Given the description of an element on the screen output the (x, y) to click on. 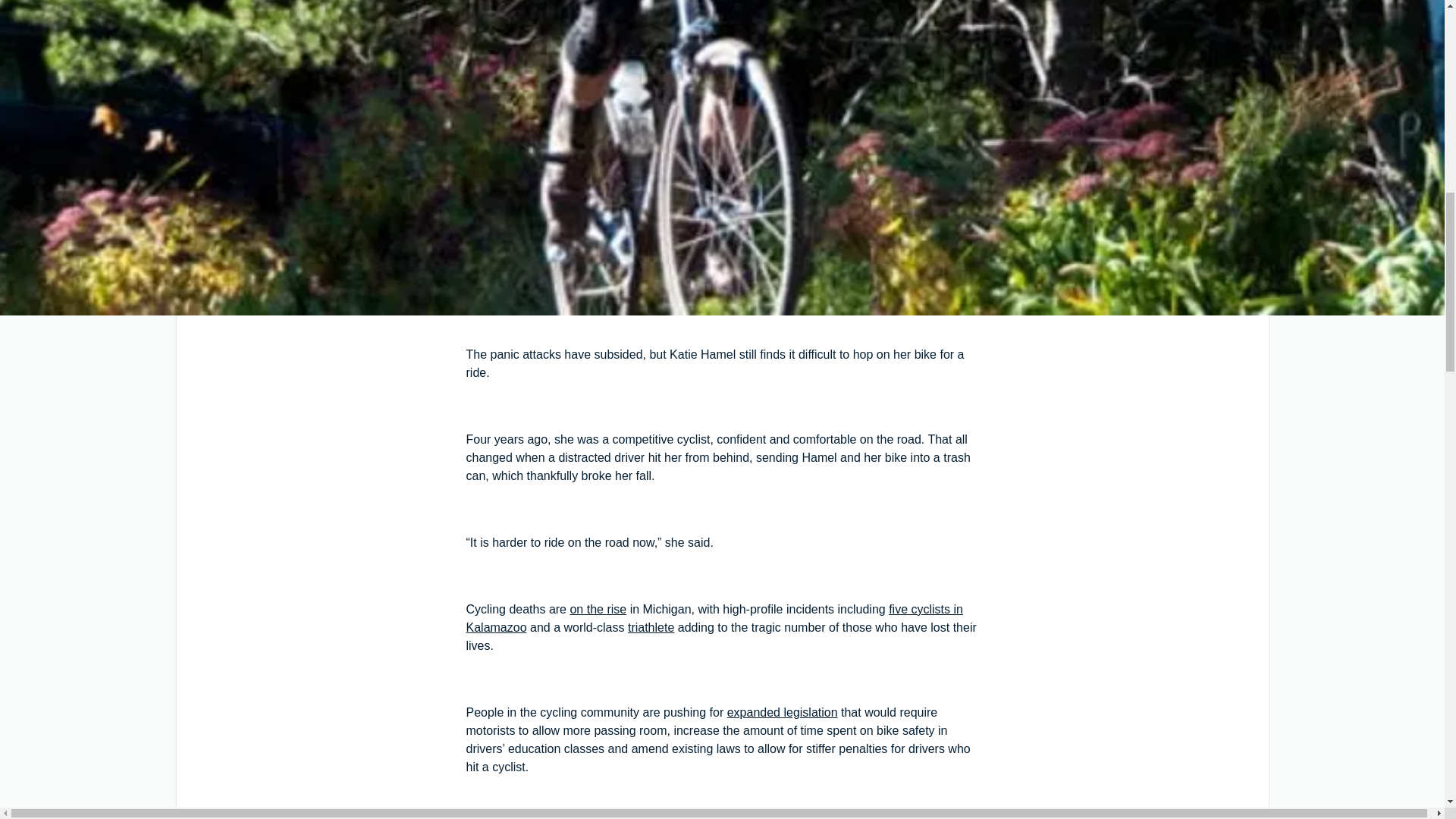
triathlete (650, 626)
on the rise (597, 608)
five cyclists in Kalamazoo (713, 617)
expanded legislation (782, 712)
